Given the description of an element on the screen output the (x, y) to click on. 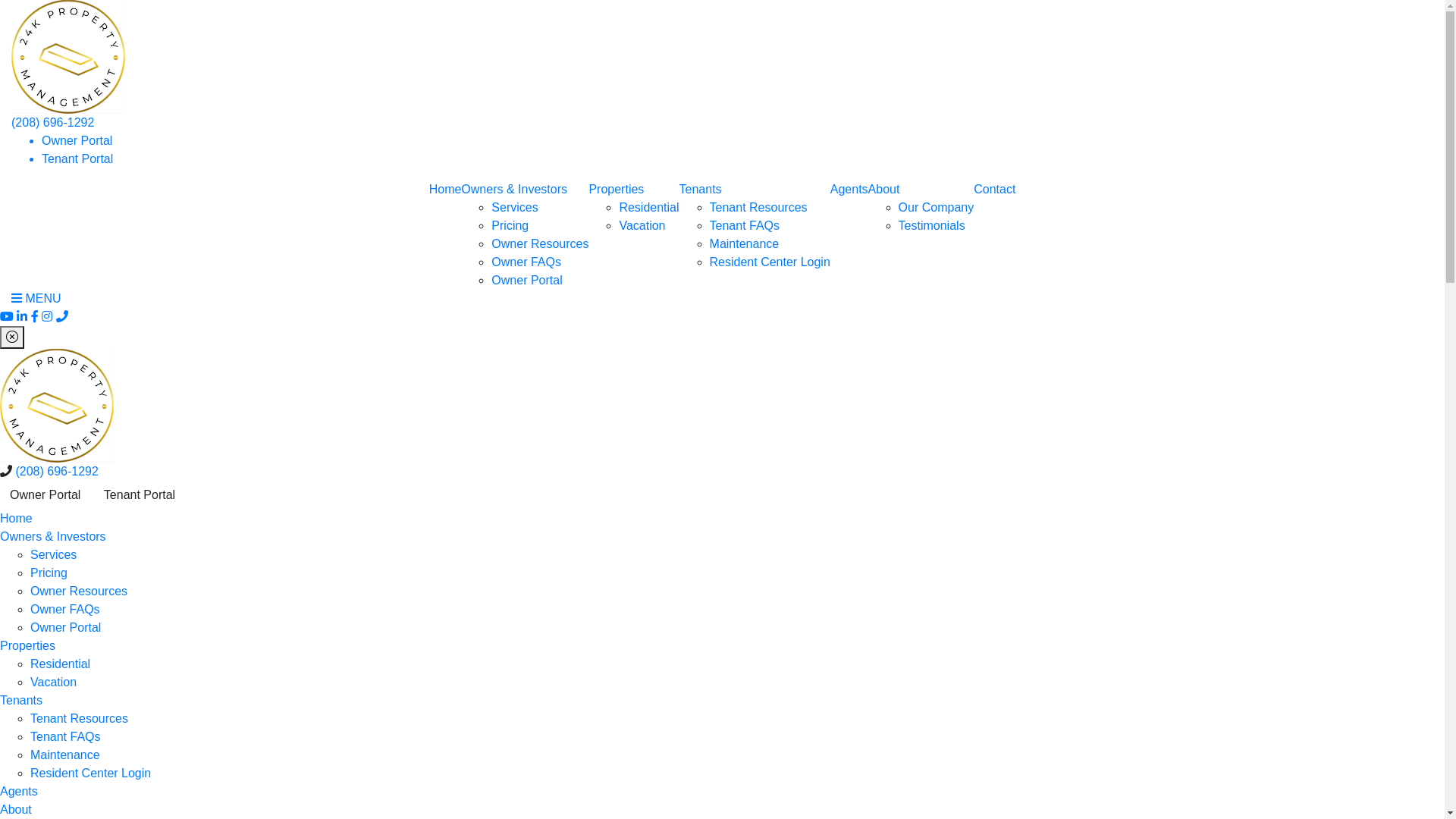
Agents Element type: text (18, 790)
Services Element type: text (53, 554)
Owner Resources Element type: text (78, 590)
Tenant FAQs Element type: text (744, 225)
Facebook Element type: text (34, 316)
Vacation Element type: text (53, 681)
Owner Portal Element type: text (65, 627)
Maintenance Element type: text (65, 754)
Tenant FAQs Element type: text (65, 736)
Call Us Element type: text (62, 316)
Instagram Element type: text (46, 316)
Owner Portal Element type: text (526, 279)
Residential Element type: text (648, 206)
Owners & Investors Element type: text (53, 536)
Owner FAQs Element type: text (526, 261)
Vacation Element type: text (641, 225)
Resident Center Login Element type: text (769, 261)
(208) 696-1292 Element type: text (52, 122)
Testimonials Element type: text (931, 225)
Owner Resources Element type: text (539, 243)
Services Element type: text (514, 206)
Pricing Element type: text (509, 225)
Owners & Investors Element type: text (514, 188)
Owner FAQs Element type: text (65, 608)
Home Element type: text (16, 517)
Tenant Resources Element type: text (758, 206)
Resident Center Login Element type: text (90, 772)
Our Company Element type: text (936, 206)
Owner Portal Element type: text (76, 140)
Home Element type: text (445, 188)
Tenant Resources Element type: text (79, 718)
About Element type: text (884, 188)
Tenants Element type: text (21, 699)
Linked In Element type: text (21, 316)
Pricing Element type: text (48, 572)
(208) 696-1292 Element type: text (56, 470)
Residential Element type: text (60, 663)
Properties Element type: text (27, 645)
Properties Element type: text (615, 188)
Tenant Portal Element type: text (76, 158)
MENU Element type: text (36, 297)
Maintenance Element type: text (744, 243)
Tenant Portal Element type: text (139, 494)
About Element type: text (15, 809)
Contact Element type: text (994, 188)
Tenants Element type: text (700, 188)
Agents Element type: text (849, 188)
Youtube Element type: text (6, 316)
Owner Portal Element type: text (45, 494)
